Given the description of an element on the screen output the (x, y) to click on. 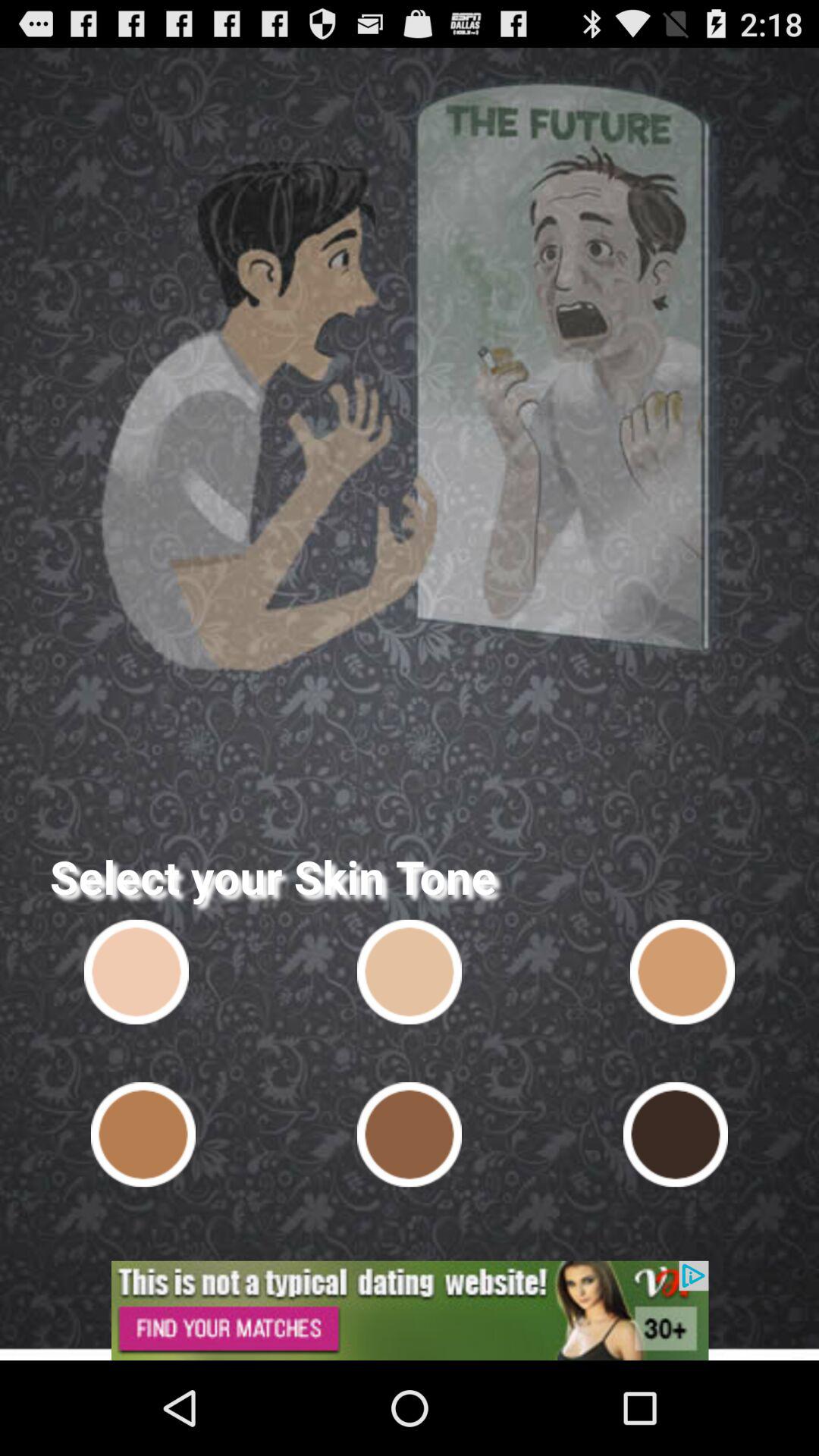
select color option (409, 1134)
